Given the description of an element on the screen output the (x, y) to click on. 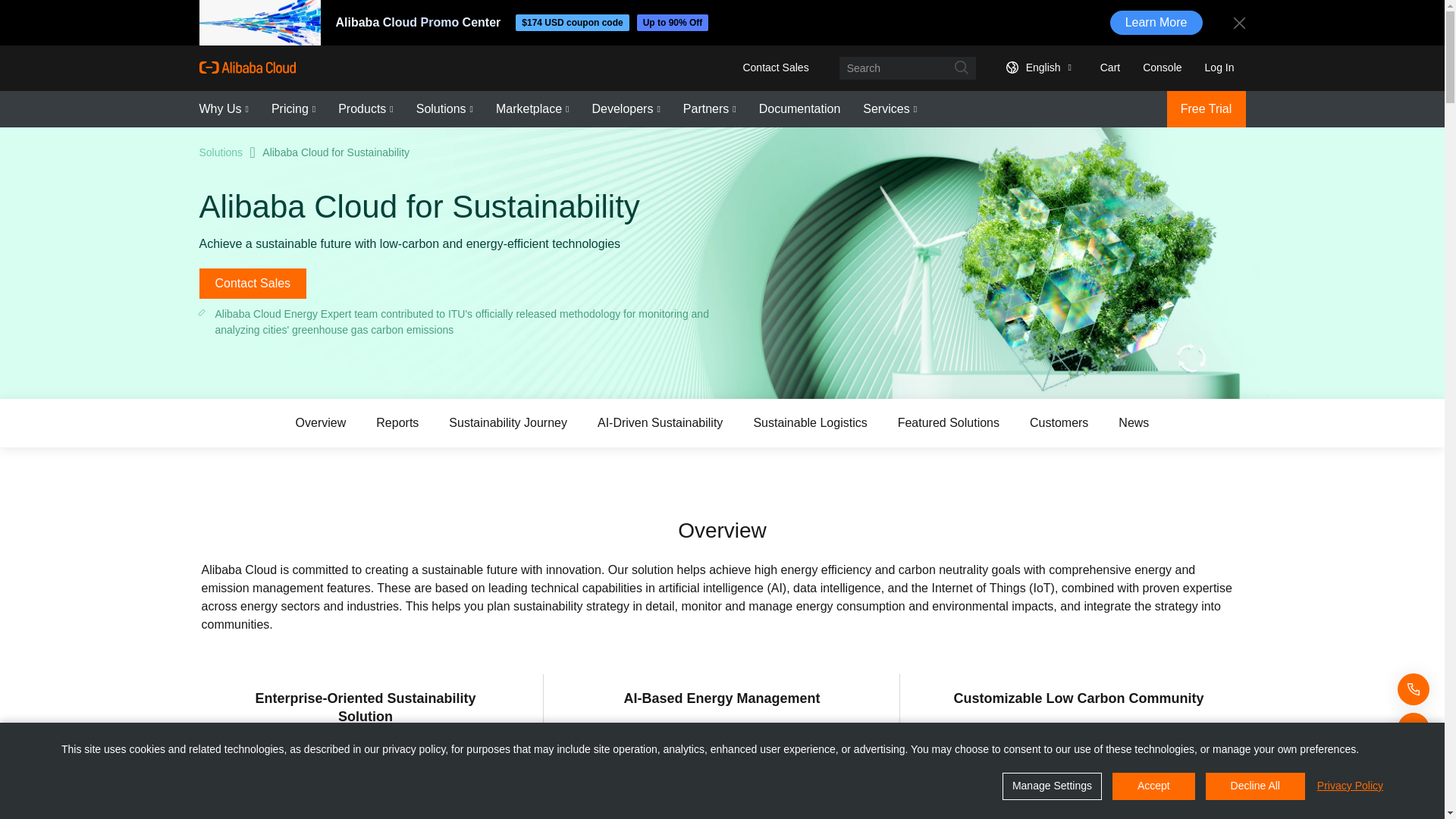
Alibaba Cloud (246, 67)
Contact Sales (774, 67)
English (1035, 67)
